Given the description of an element on the screen output the (x, y) to click on. 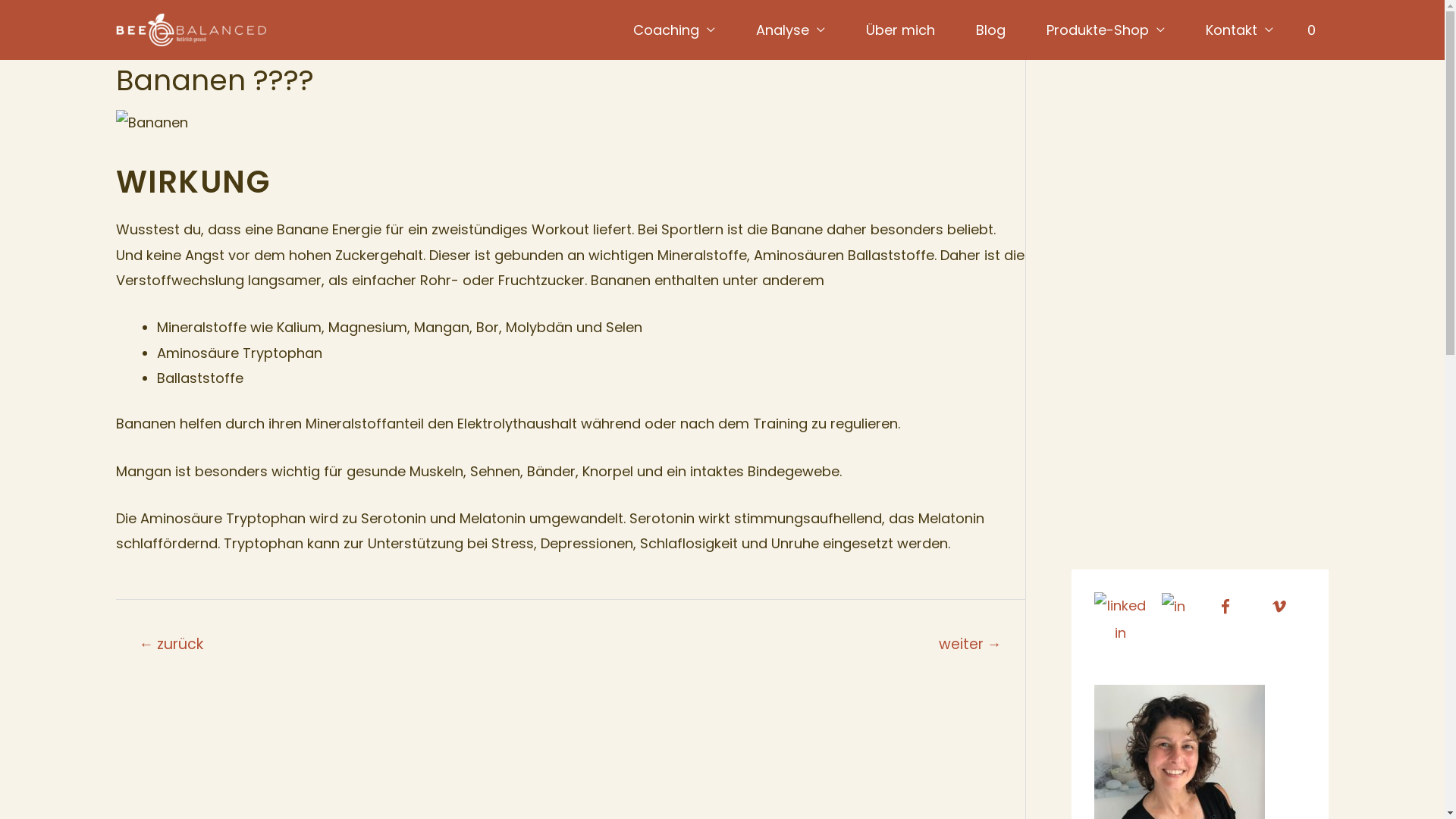
Coaching Element type: text (673, 29)
0 Element type: text (1311, 29)
Blog Element type: text (989, 29)
Produkte-Shop Element type: text (1105, 29)
Kontakt Element type: text (1239, 29)
Analyse Element type: text (789, 29)
